Given the description of an element on the screen output the (x, y) to click on. 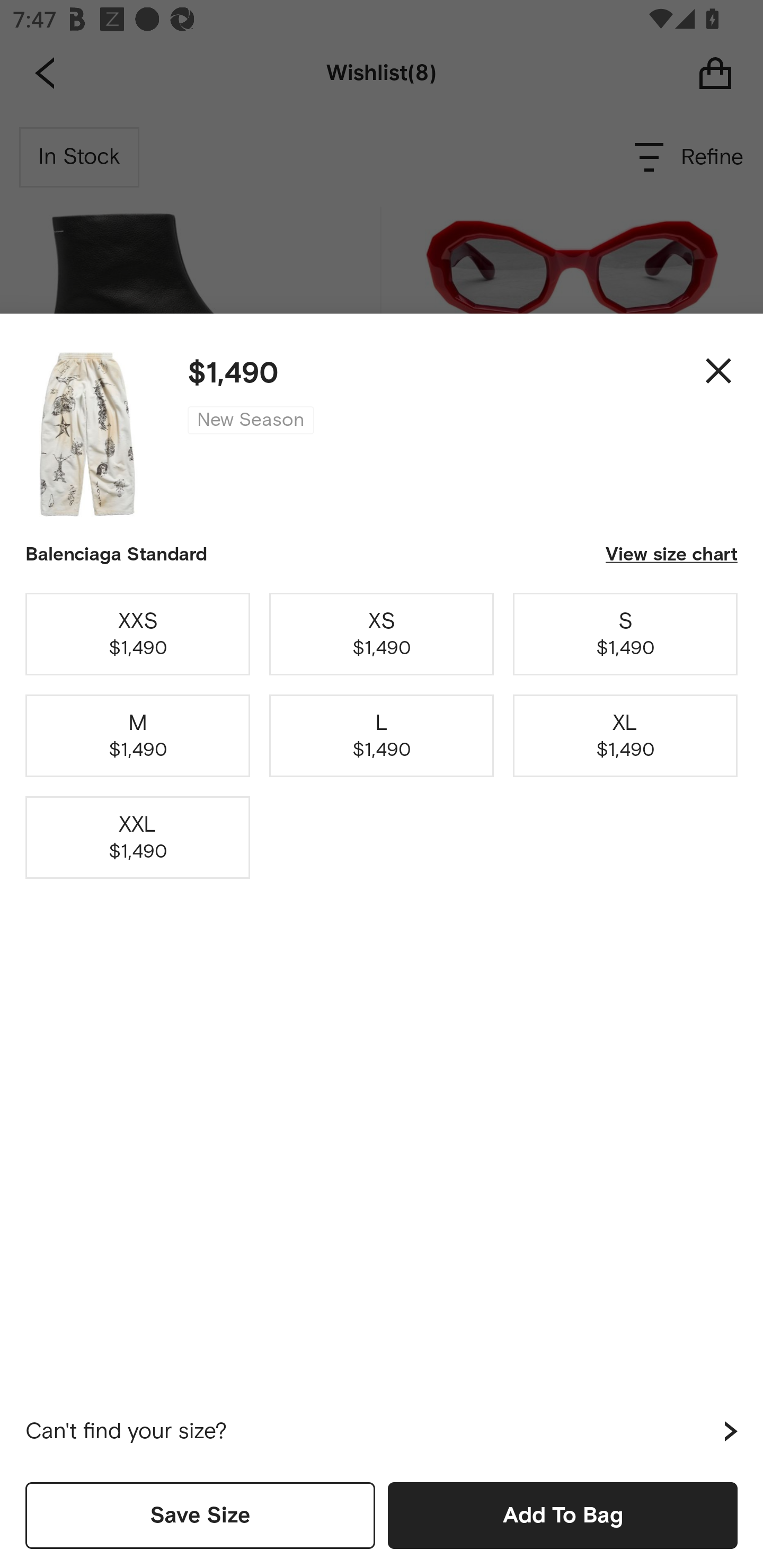
XXS $1,490 (137, 633)
XS $1,490 (381, 633)
S $1,490 (624, 633)
M $1,490 (137, 735)
L $1,490 (381, 735)
XL $1,490 (624, 735)
XXL $1,490 (137, 837)
Can't find your size? (381, 1431)
Save Size (200, 1515)
Add To Bag (562, 1515)
